Given the description of an element on the screen output the (x, y) to click on. 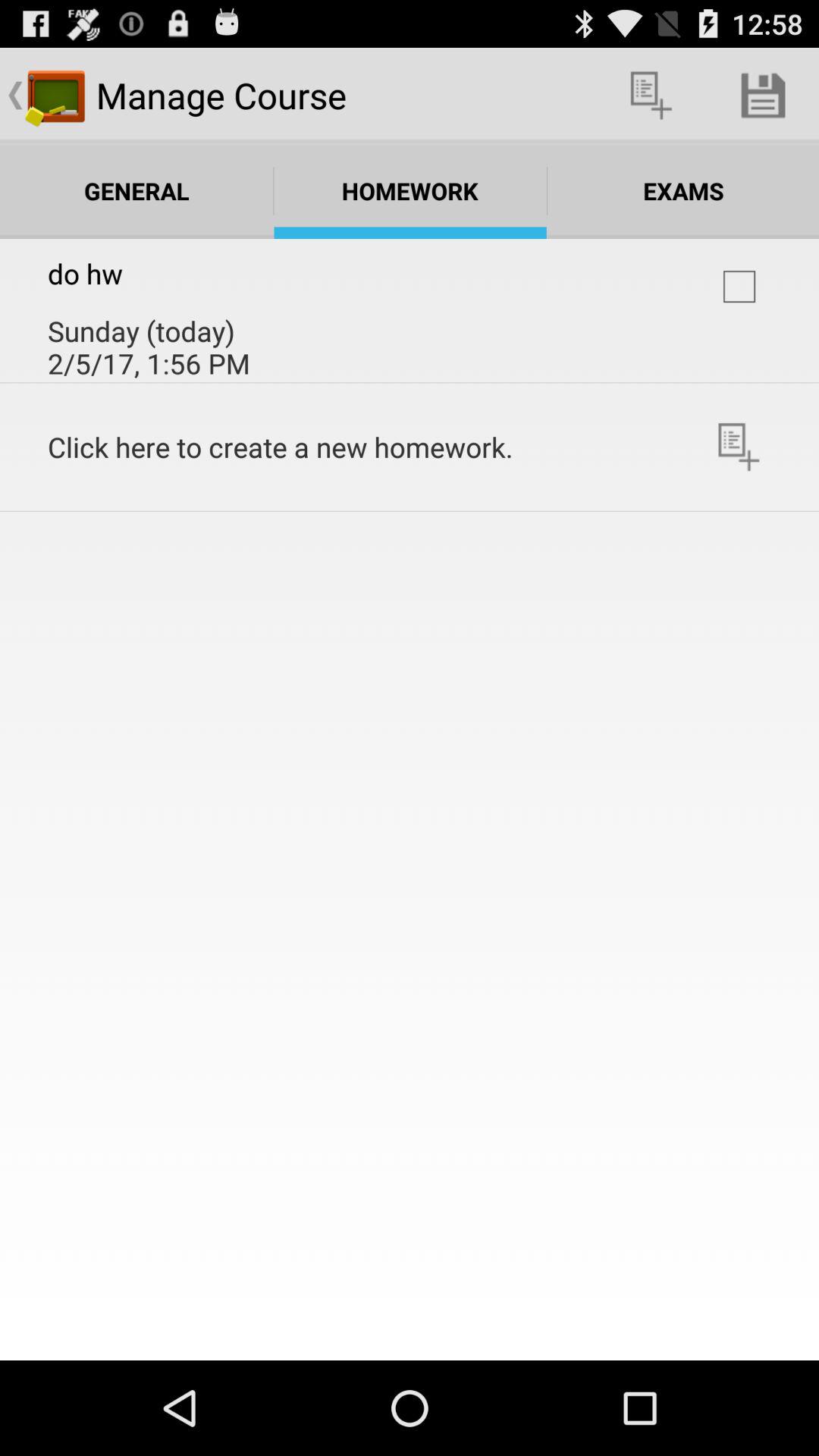
tap item below exams app (739, 286)
